Given the description of an element on the screen output the (x, y) to click on. 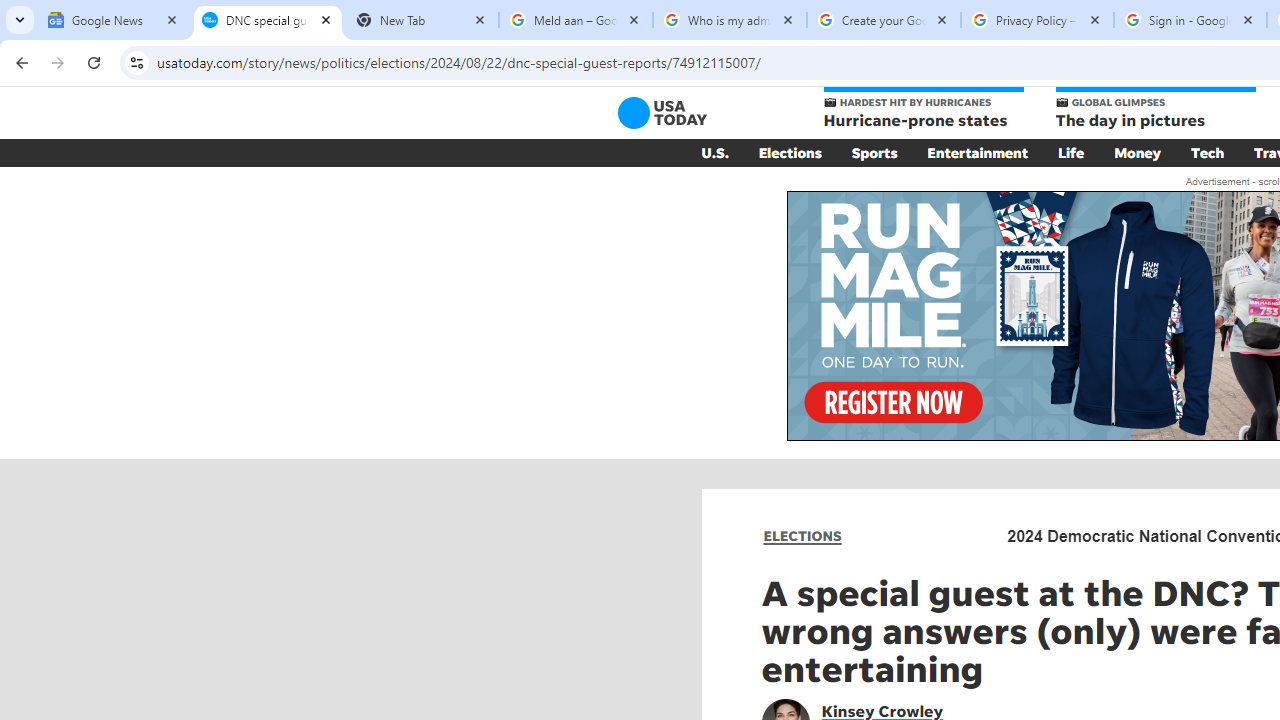
View site information (136, 62)
Create your Google Account (883, 20)
ELECTIONS (802, 536)
Sports (873, 152)
Forward (57, 62)
U.S. (714, 152)
Reload (93, 62)
Tech (1207, 152)
Entertainment (977, 152)
Elections (789, 152)
Who is my administrator? - Google Account Help (729, 20)
Sign in - Google Accounts (1190, 20)
